Given the description of an element on the screen output the (x, y) to click on. 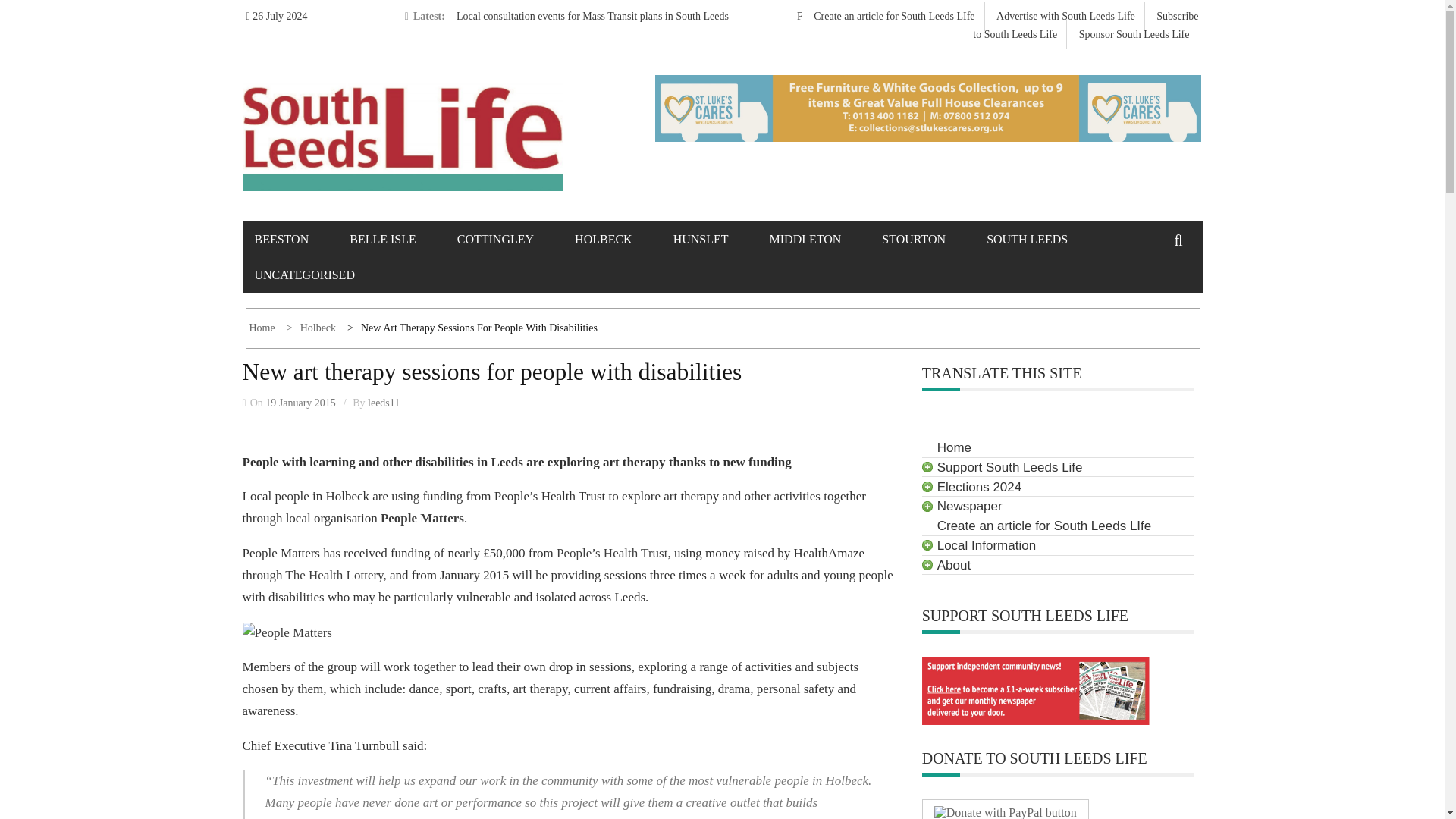
BEESTON (300, 239)
Holbeck (312, 327)
19 January 2015 (300, 402)
COTTINGLEY (514, 239)
Home (263, 327)
MIDDLETON (824, 239)
Sponsor South Leeds Life (1133, 34)
HUNSLET (719, 239)
Advertise with South Leeds Life (1065, 16)
Create an article for South Leeds LIfe (893, 16)
Free guided trees and butterflies walk on Sunday (900, 16)
SOUTH LEEDS LIFE (360, 121)
Subscribe to South Leeds Life (1085, 25)
HOLBECK (622, 239)
